Given the description of an element on the screen output the (x, y) to click on. 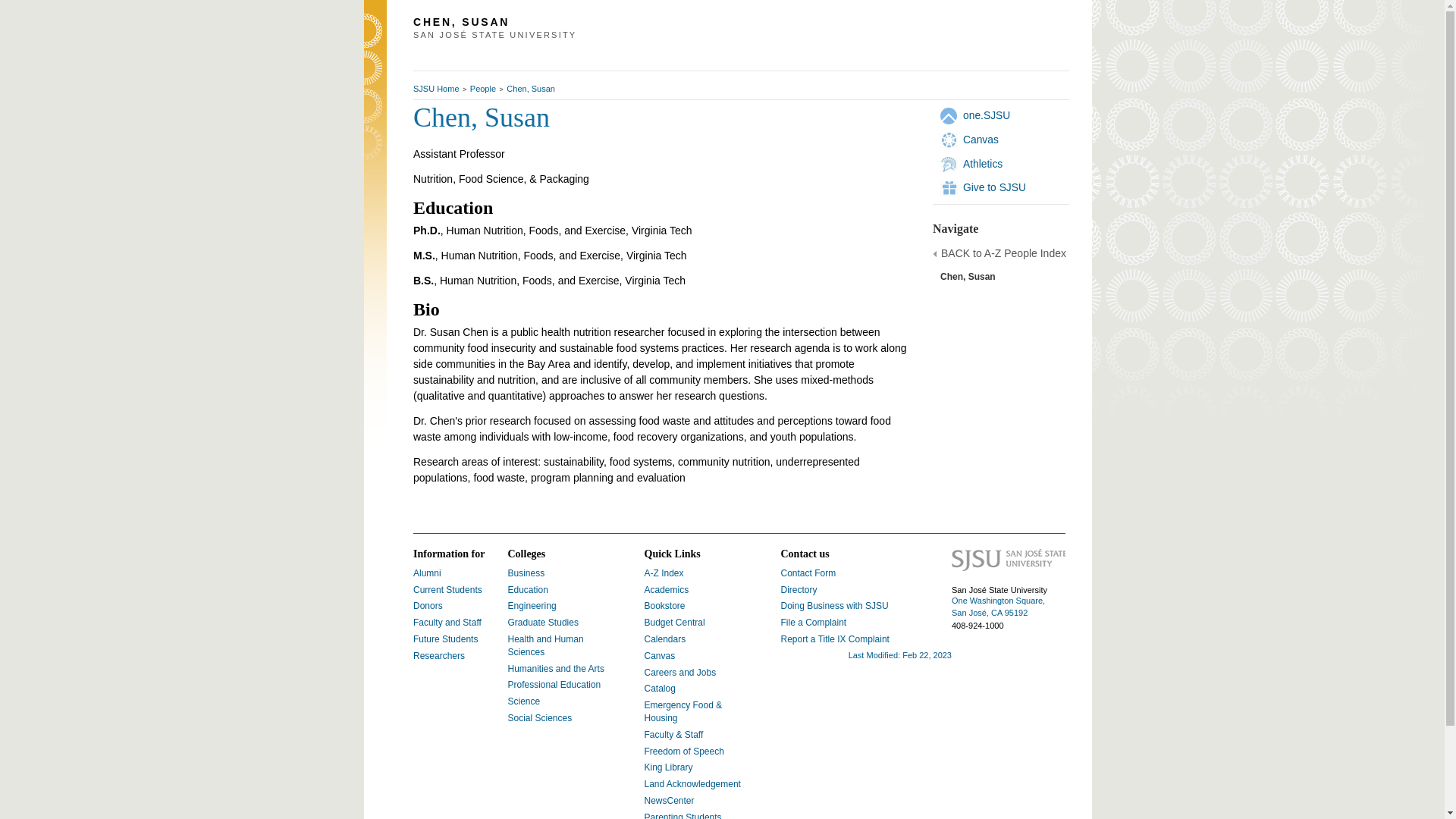
SJSU Home (436, 88)
Land Acknowledgement (693, 783)
Graduate Studies (543, 622)
Engineering (532, 605)
Researchers (438, 655)
BACK to A-Z People Index (1002, 254)
People (483, 88)
Calendars (665, 638)
Academics (666, 589)
King Library (669, 767)
